Given the description of an element on the screen output the (x, y) to click on. 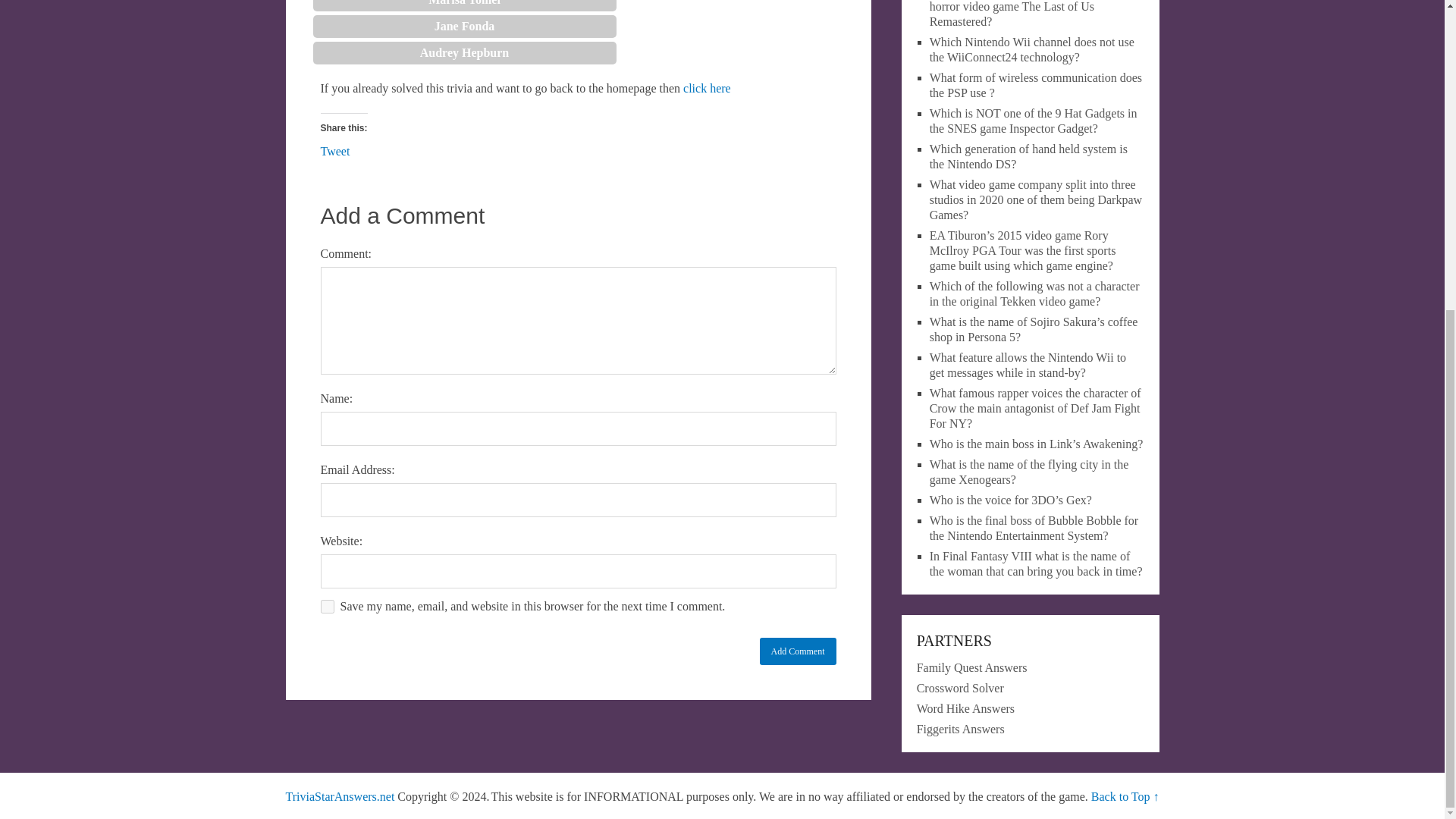
Crossword Solver (960, 687)
yes (326, 606)
Figgerits Answers (960, 728)
Add Comment (797, 651)
Family Quest Answers (972, 667)
